Given the description of an element on the screen output the (x, y) to click on. 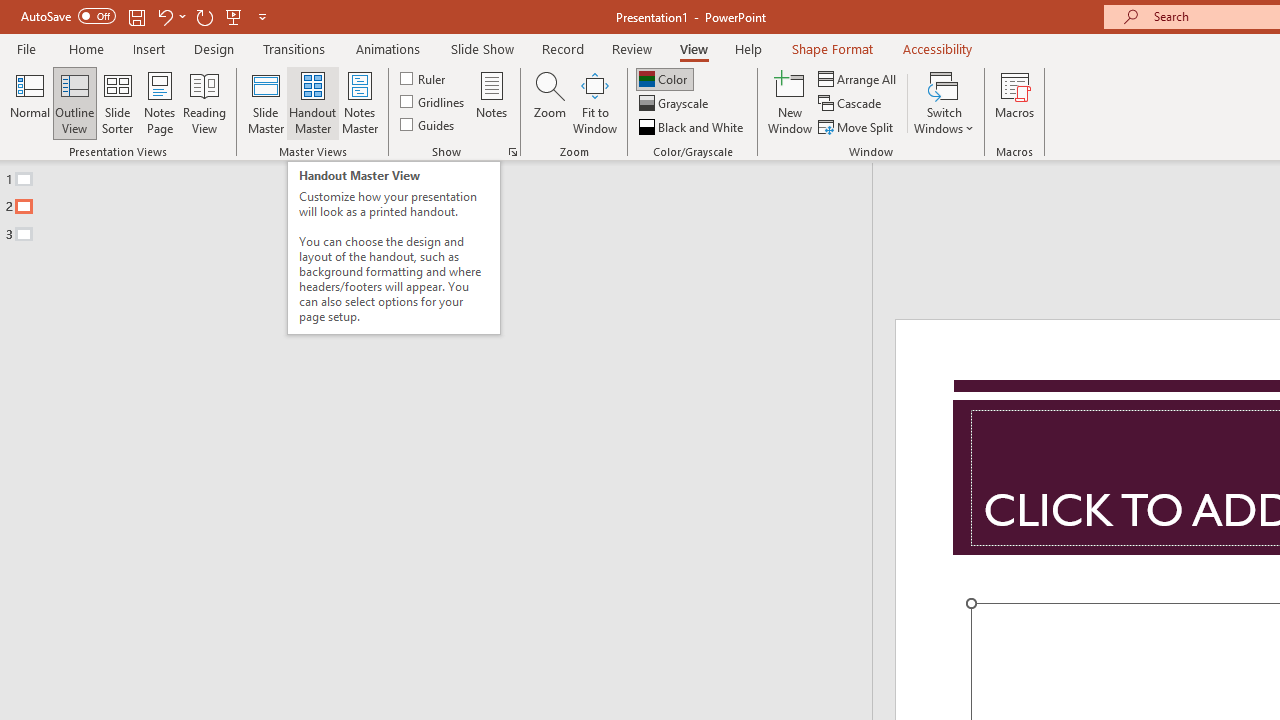
Fit to Window (594, 102)
Notes Master (360, 102)
Color (664, 78)
